Given the description of an element on the screen output the (x, y) to click on. 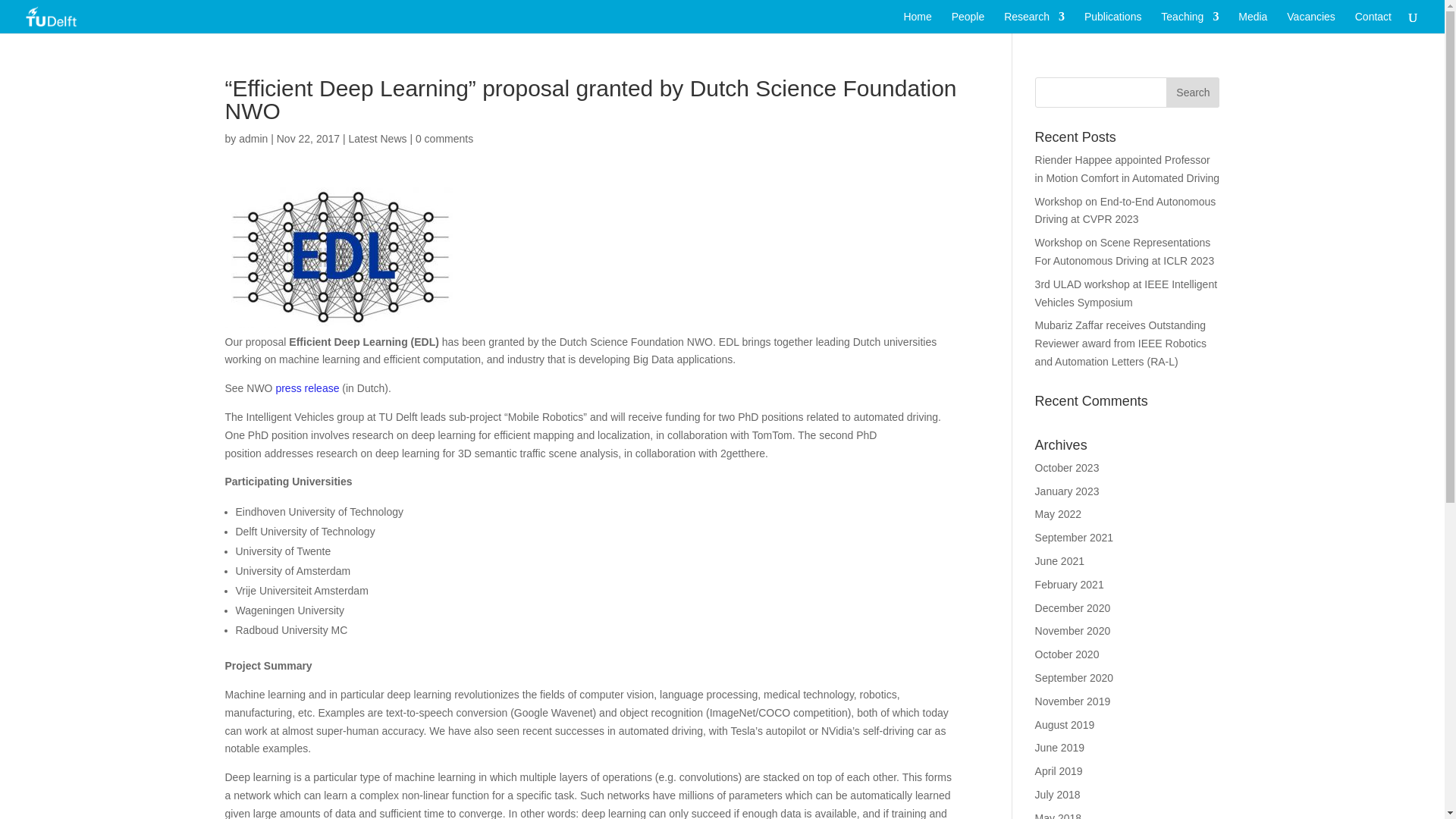
Posts by admin (252, 138)
Search (1193, 91)
Media (1252, 22)
People (968, 22)
Vacancies (1311, 22)
Publications (1112, 22)
Teaching (1189, 22)
Home (916, 22)
Research (1034, 22)
admin (252, 138)
Contact (1373, 22)
